Given the description of an element on the screen output the (x, y) to click on. 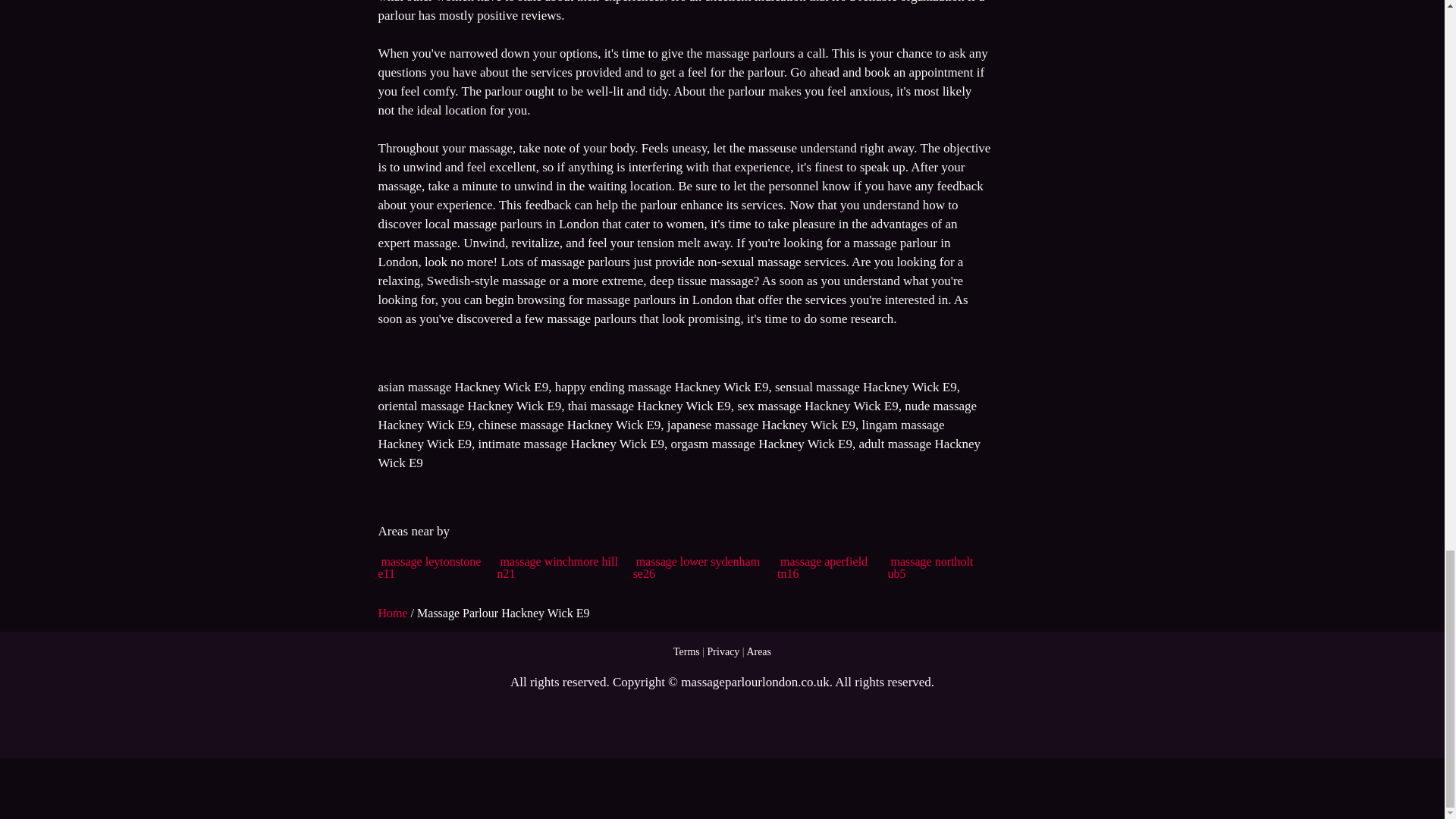
massage aperfield tn16 (822, 567)
Terms (686, 651)
Privacy (723, 651)
Home (393, 612)
Terms (686, 651)
Areas (758, 651)
massage lower sydenham se26 (696, 567)
massageparlourlondon.co.uk (754, 681)
massageparlourlondon.co.uk (754, 681)
massage winchmore hill n21 (556, 567)
massage leytonstone e11 (428, 567)
Privacy (723, 651)
Areas (758, 651)
massage northolt ub5 (931, 567)
